Given the description of an element on the screen output the (x, y) to click on. 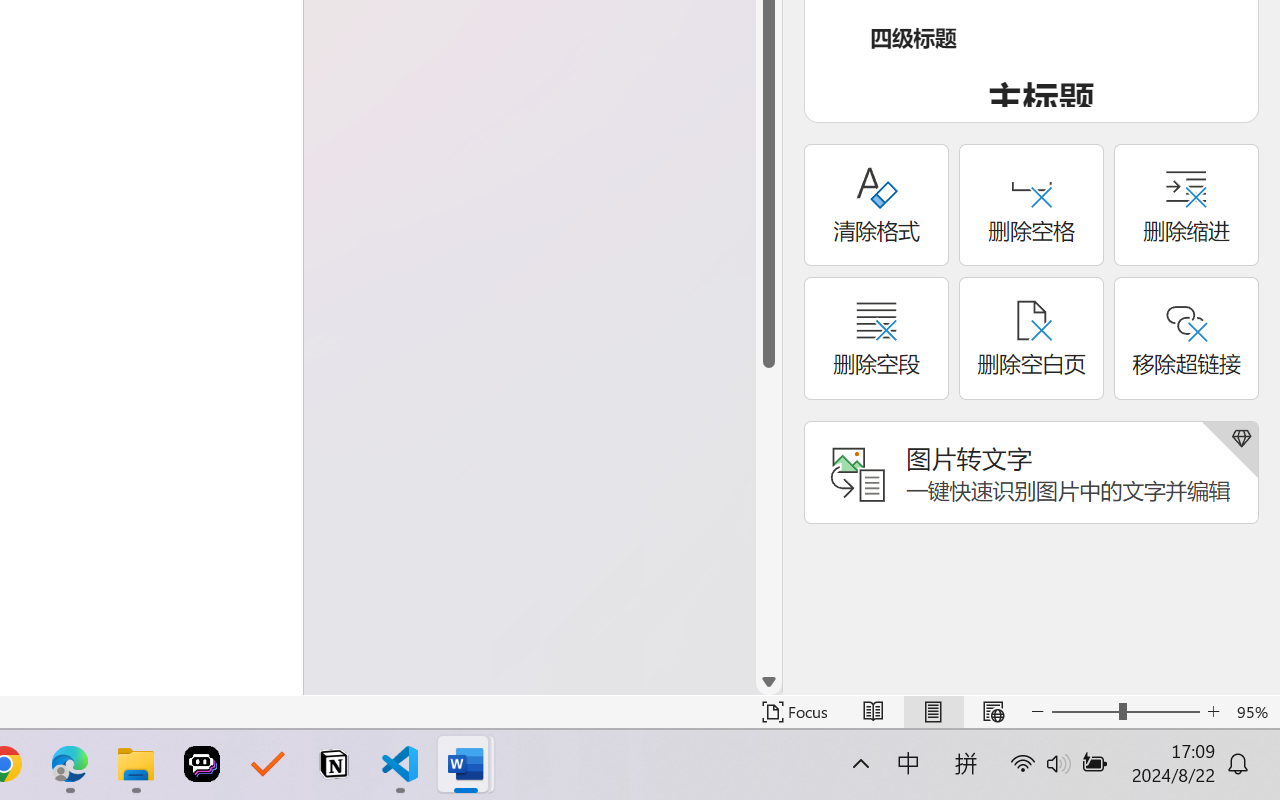
Zoom 95% (1253, 712)
